Given the description of an element on the screen output the (x, y) to click on. 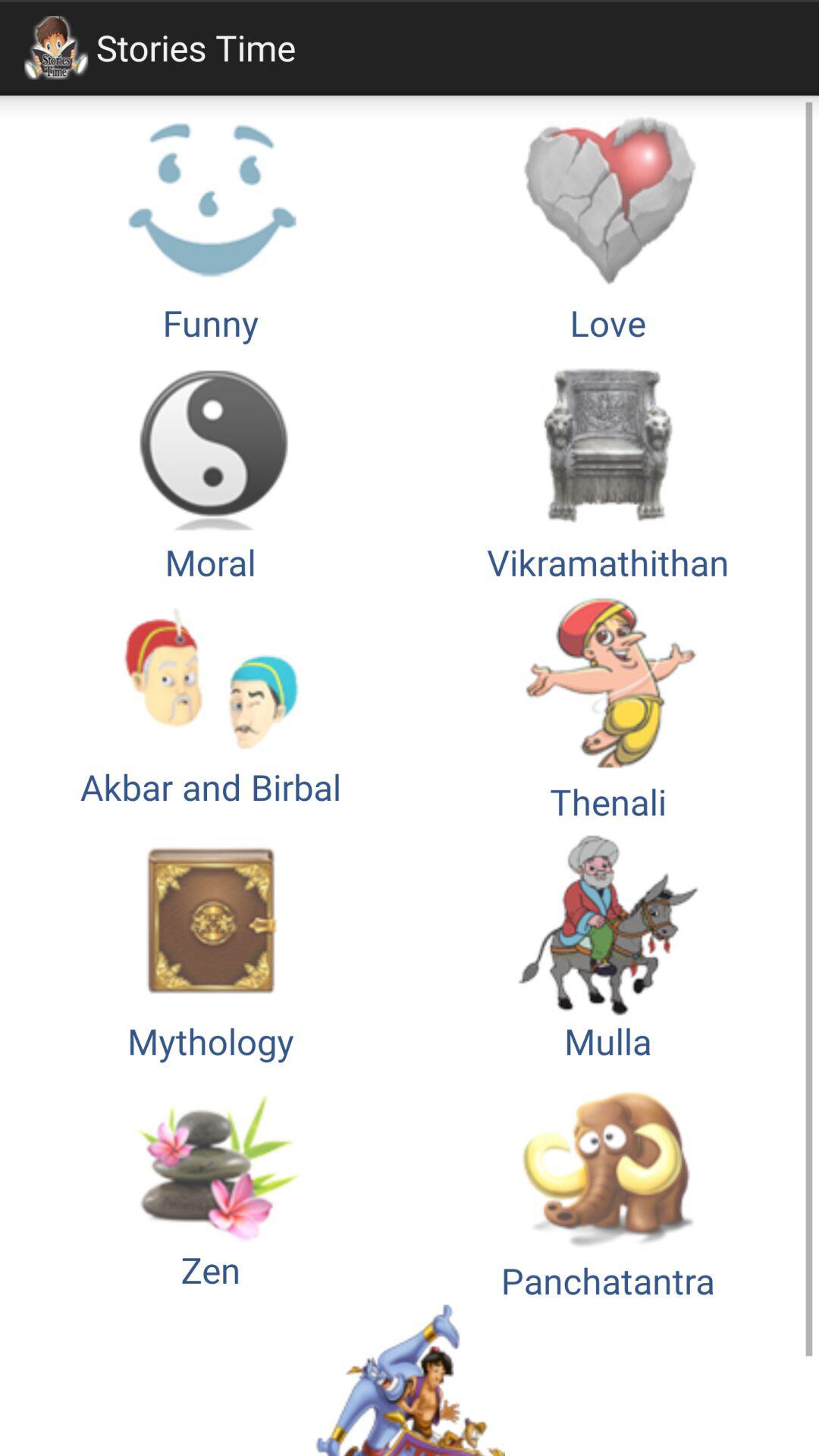
click the item below moral button (210, 706)
